Given the description of an element on the screen output the (x, y) to click on. 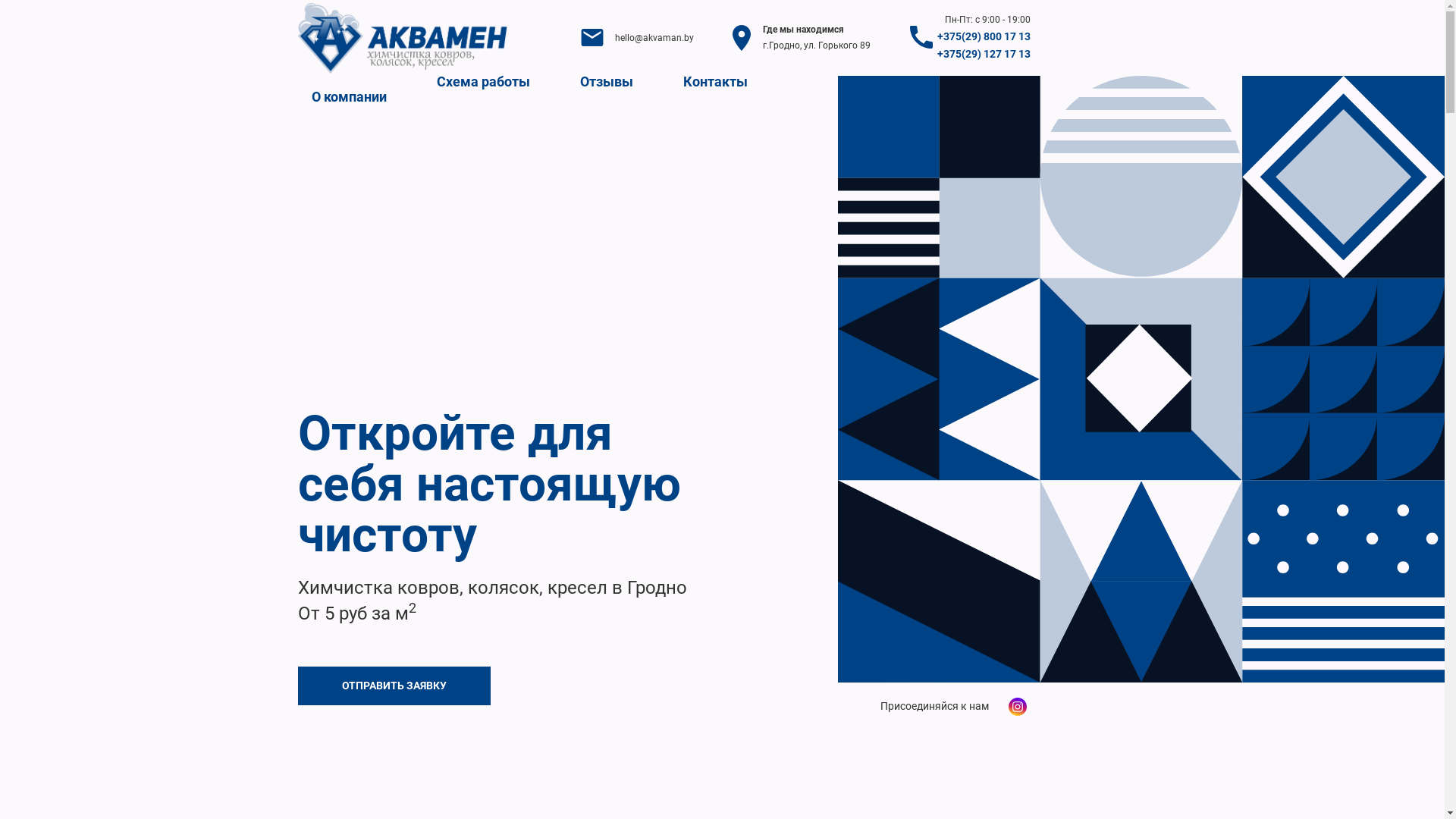
hello@akvaman.by Element type: text (654, 37)
+375(29) 127 17 13 Element type: text (983, 54)
+375(29) 800 17 13 Element type: text (983, 36)
